Given the description of an element on the screen output the (x, y) to click on. 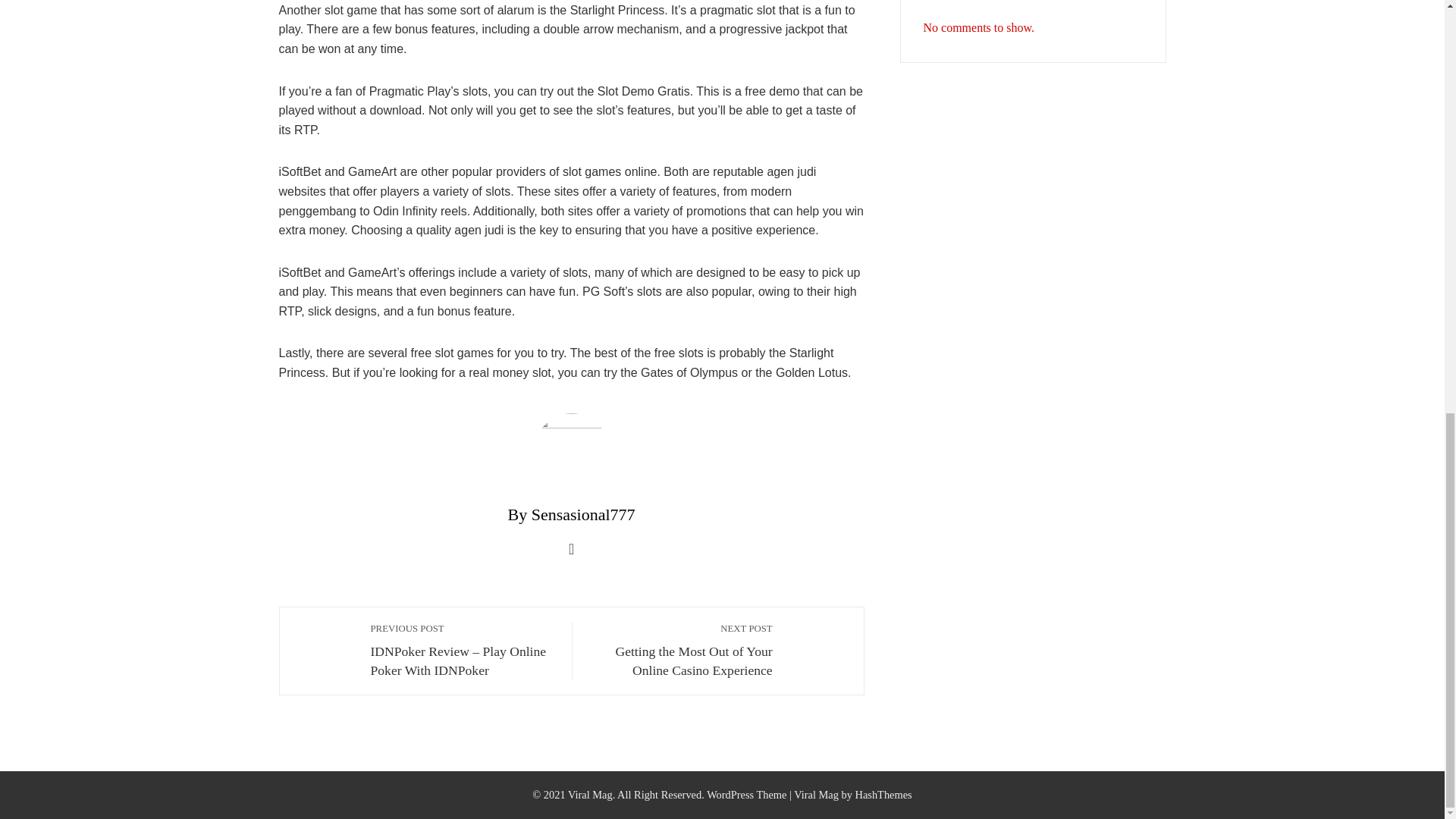
Download Viral News (815, 794)
Viral Mag (815, 794)
